Given the description of an element on the screen output the (x, y) to click on. 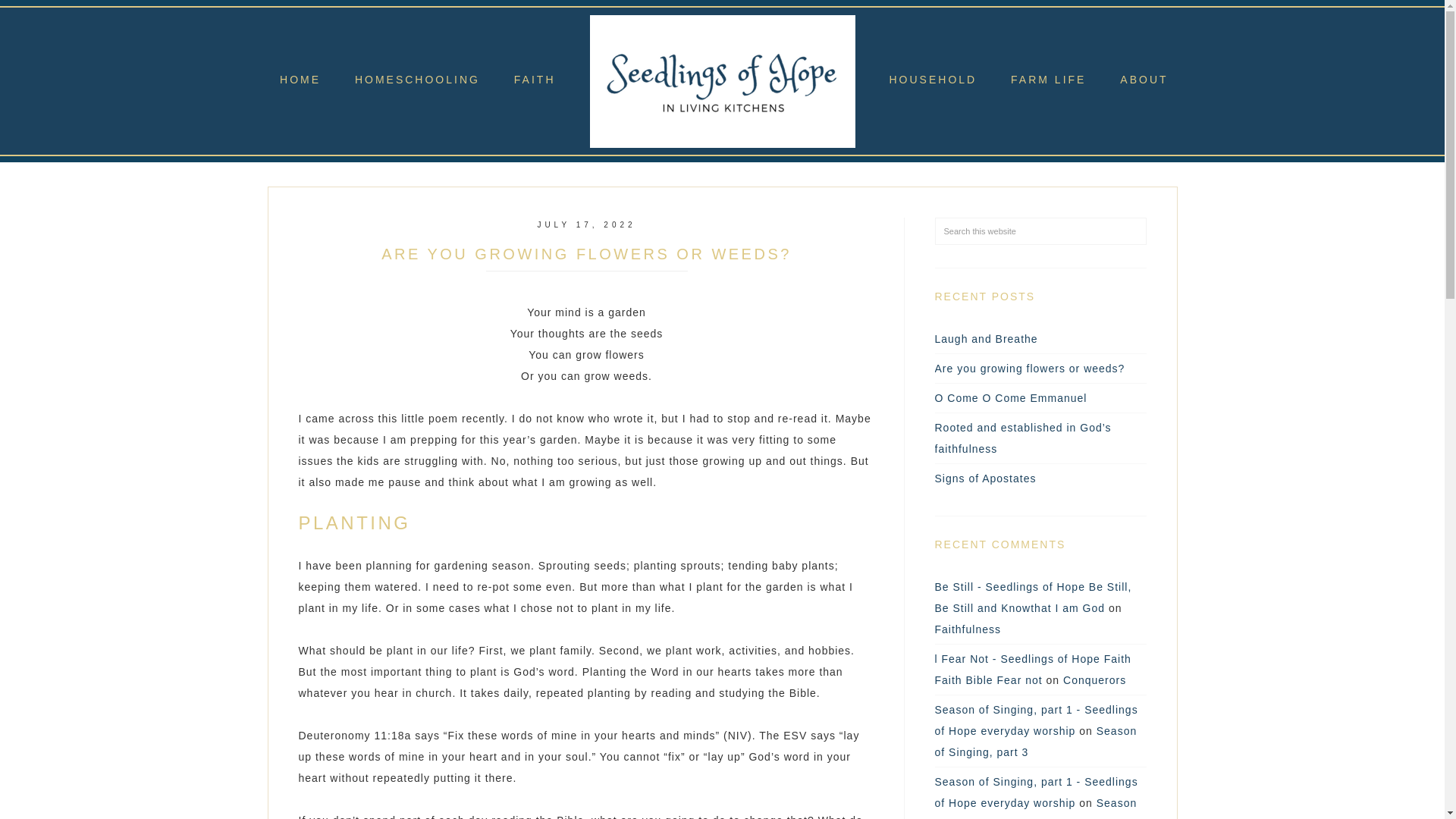
Conquerors (1093, 680)
Signs of Apostates (984, 478)
HOUSEHOLD (932, 83)
Season of Singing, part 3 (1035, 741)
Season of Singing, part 2 (1035, 807)
Laugh and Breathe (985, 338)
Are you growing flowers or weeds? (1029, 368)
